Given the description of an element on the screen output the (x, y) to click on. 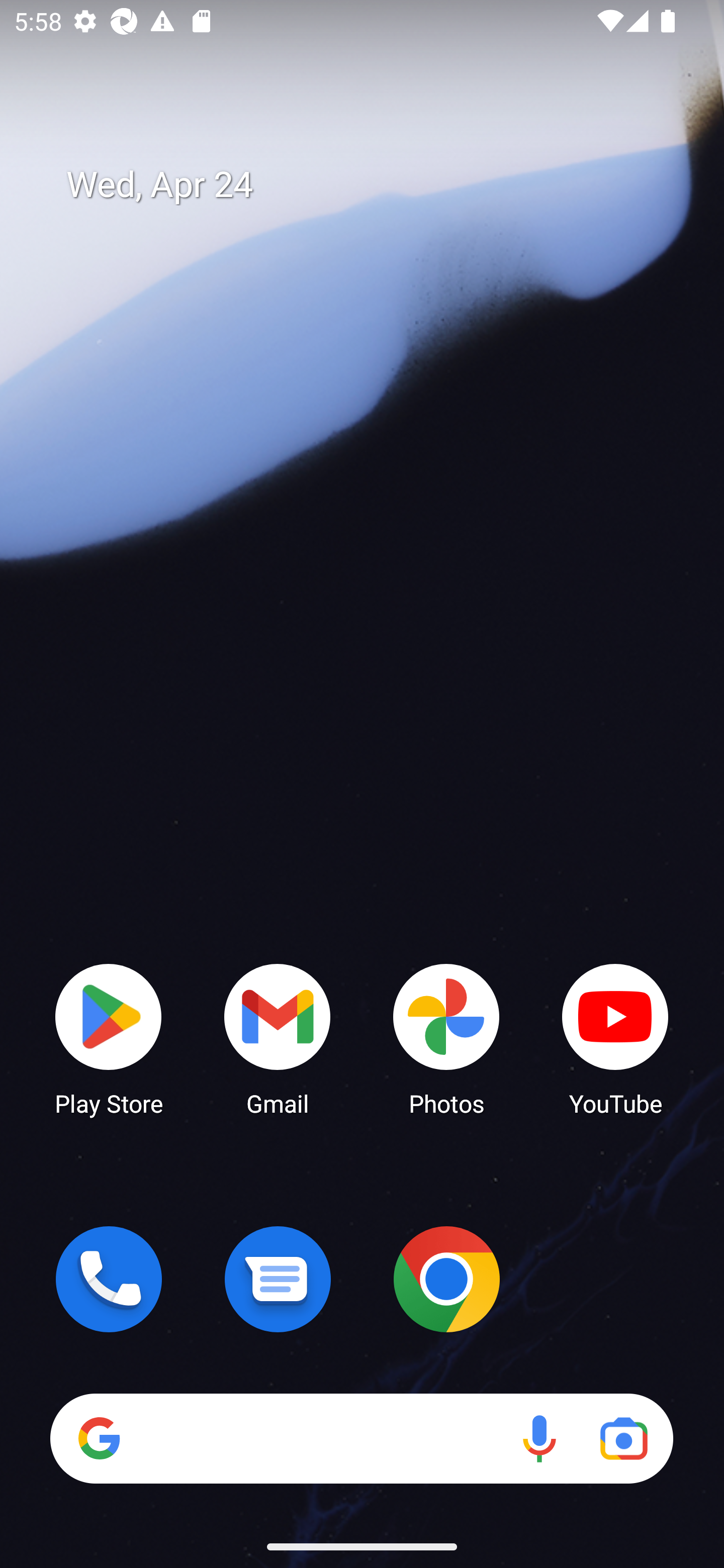
Wed, Apr 24 (375, 184)
Play Store (108, 1038)
Gmail (277, 1038)
Photos (445, 1038)
YouTube (615, 1038)
Phone (108, 1279)
Messages (277, 1279)
Chrome (446, 1279)
Search Voice search Google Lens (361, 1438)
Voice search (539, 1438)
Google Lens (623, 1438)
